Given the description of an element on the screen output the (x, y) to click on. 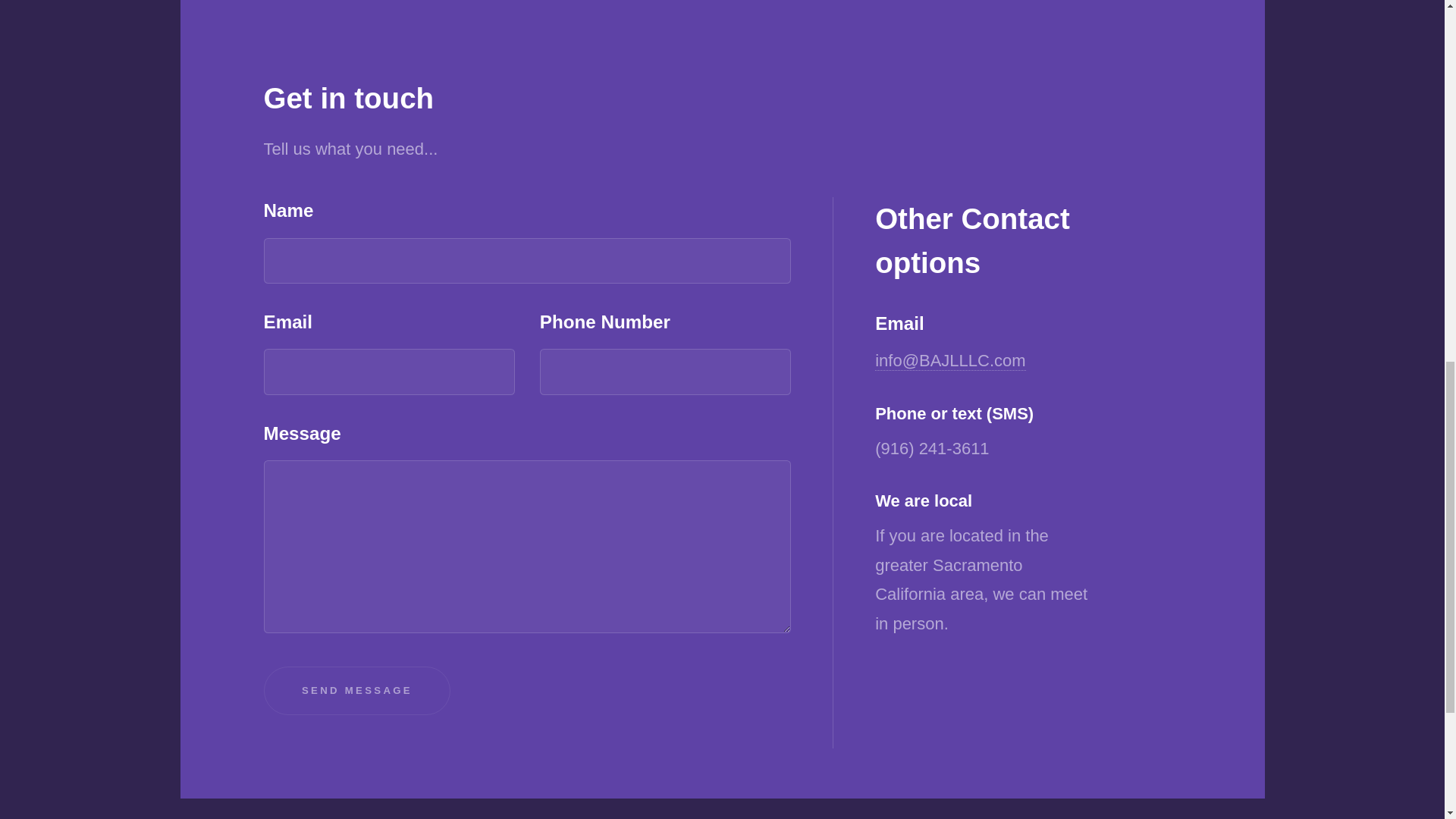
SEND MESSAGE (357, 690)
